Given the description of an element on the screen output the (x, y) to click on. 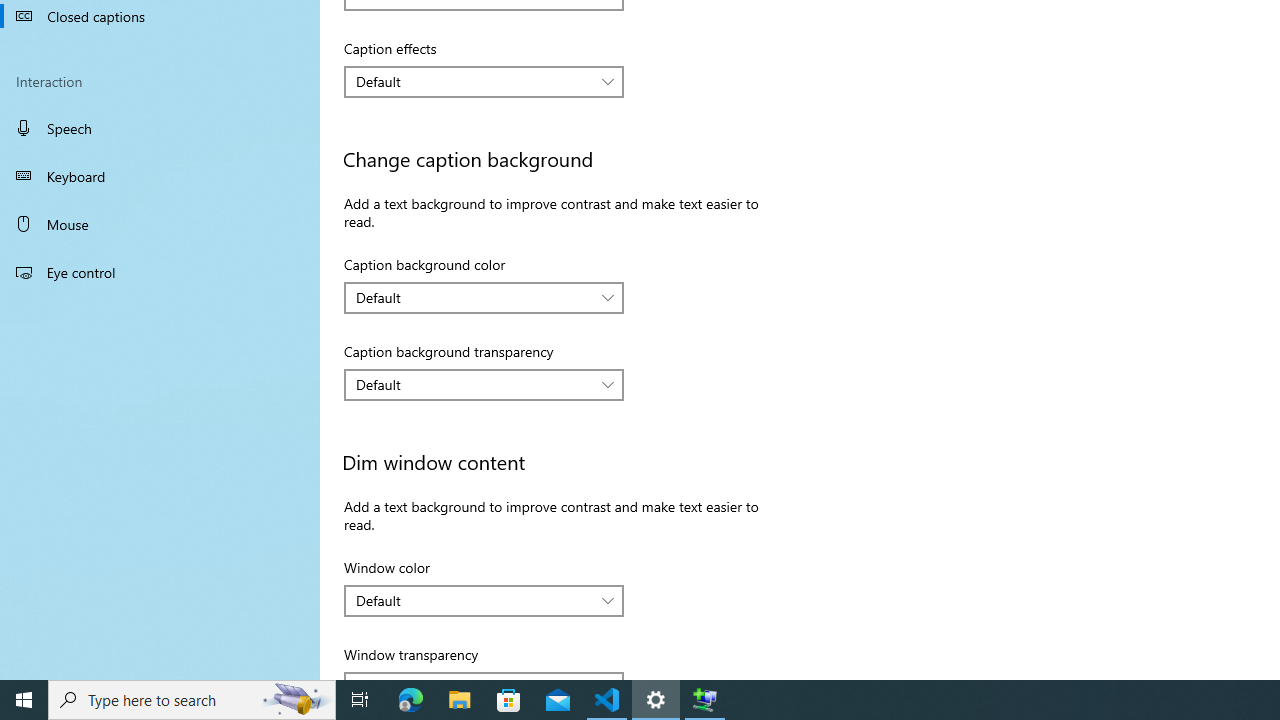
Caption background color (484, 297)
Extensible Wizards Host Process - 1 running window (704, 699)
Window color (484, 600)
Speech (160, 127)
Window transparency (484, 675)
Caption background transparency (484, 384)
Default (473, 600)
Mouse (160, 223)
